Given the description of an element on the screen output the (x, y) to click on. 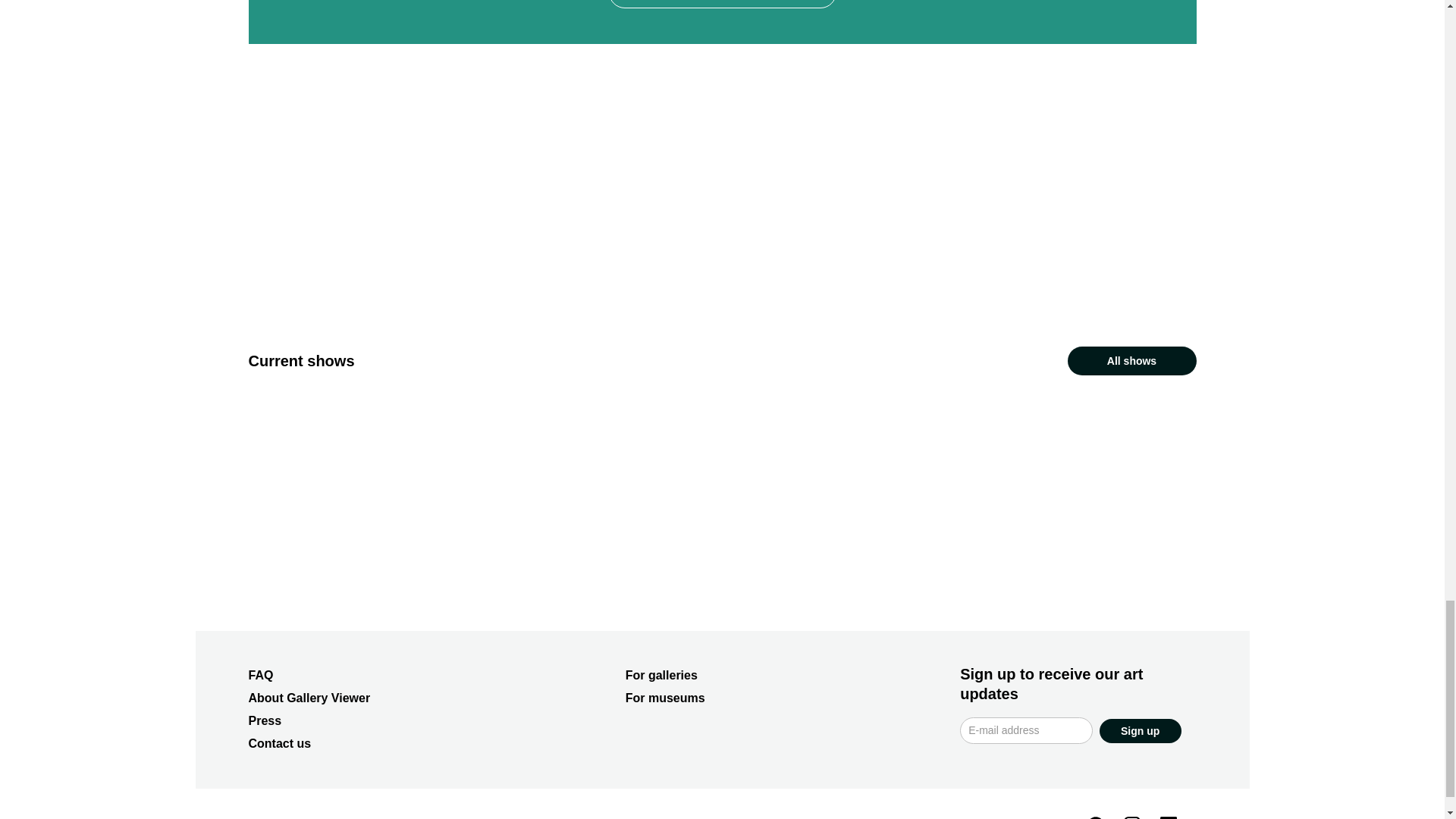
About Gallery Viewer (309, 697)
For museums (665, 697)
FAQ (260, 675)
Press (265, 720)
All shows (1131, 360)
, Privacy (513, 818)
Contact us (279, 743)
Sign up (1139, 730)
Subscribe (721, 4)
For galleries (661, 675)
